Given the description of an element on the screen output the (x, y) to click on. 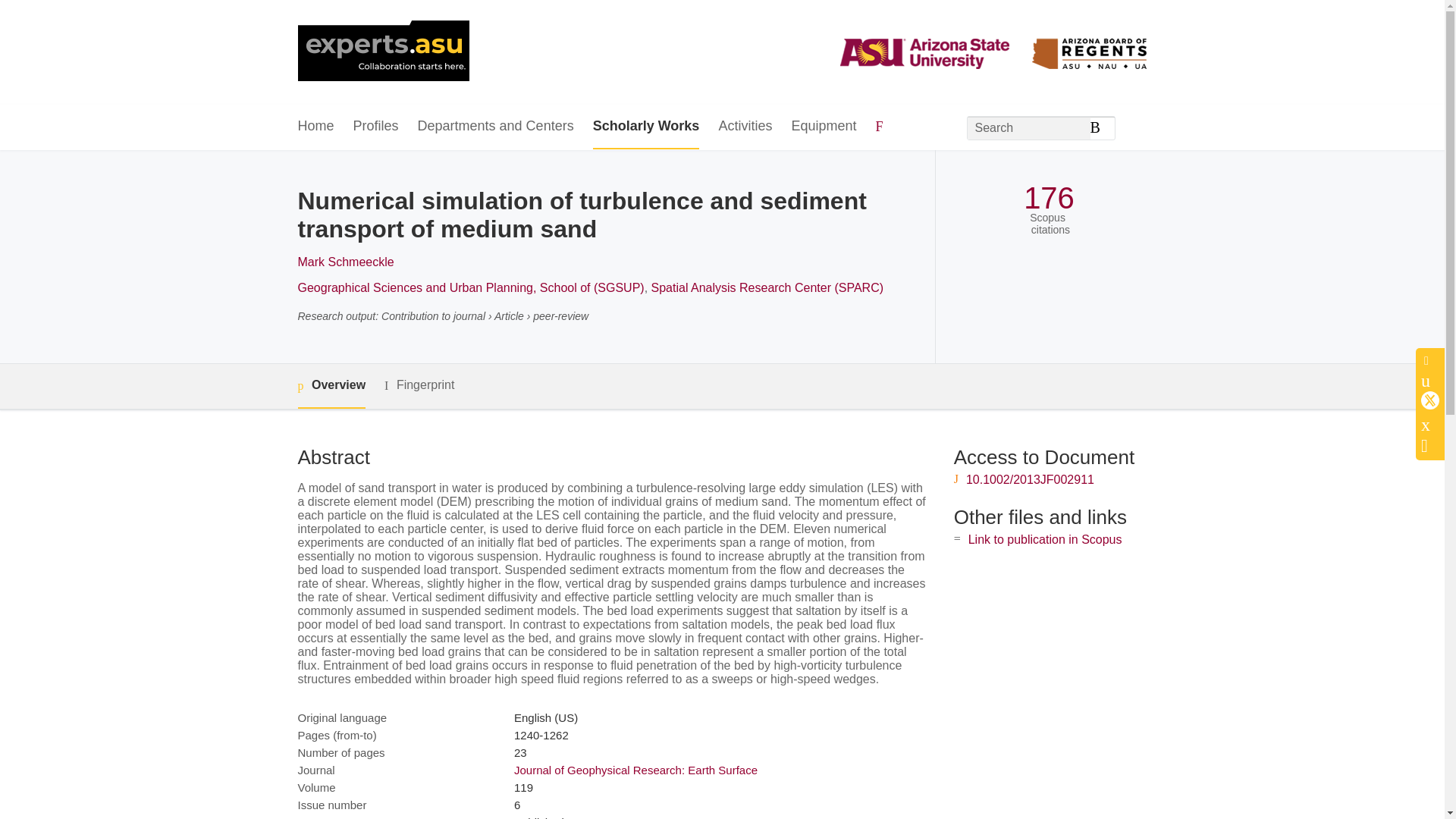
Arizona State University Home (382, 52)
Mark Schmeeckle (345, 261)
Departments and Centers (495, 126)
Activities (744, 126)
176 (1048, 198)
Scholarly Works (646, 126)
Link to publication in Scopus (1045, 539)
Overview (331, 385)
Profiles (375, 126)
Fingerprint (419, 385)
Equipment (823, 126)
Journal of Geophysical Research: Earth Surface (635, 769)
